Given the description of an element on the screen output the (x, y) to click on. 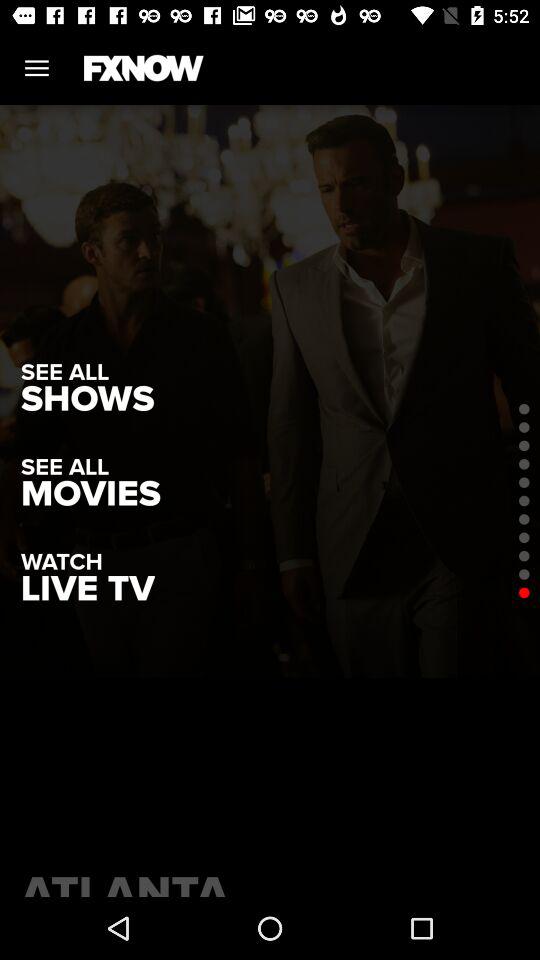
launch icon above see all (87, 398)
